Given the description of an element on the screen output the (x, y) to click on. 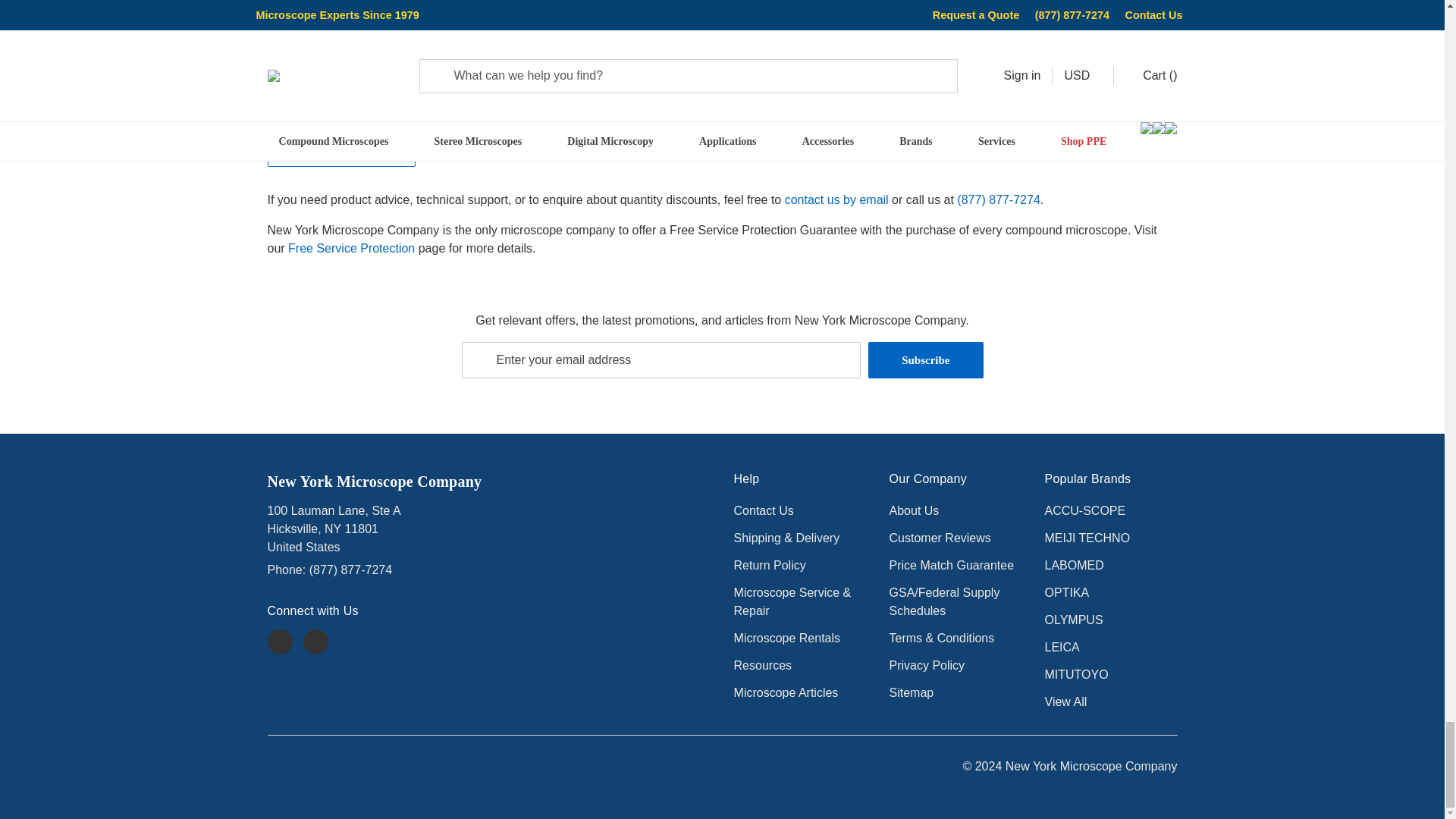
Subscribe (924, 360)
